Given the description of an element on the screen output the (x, y) to click on. 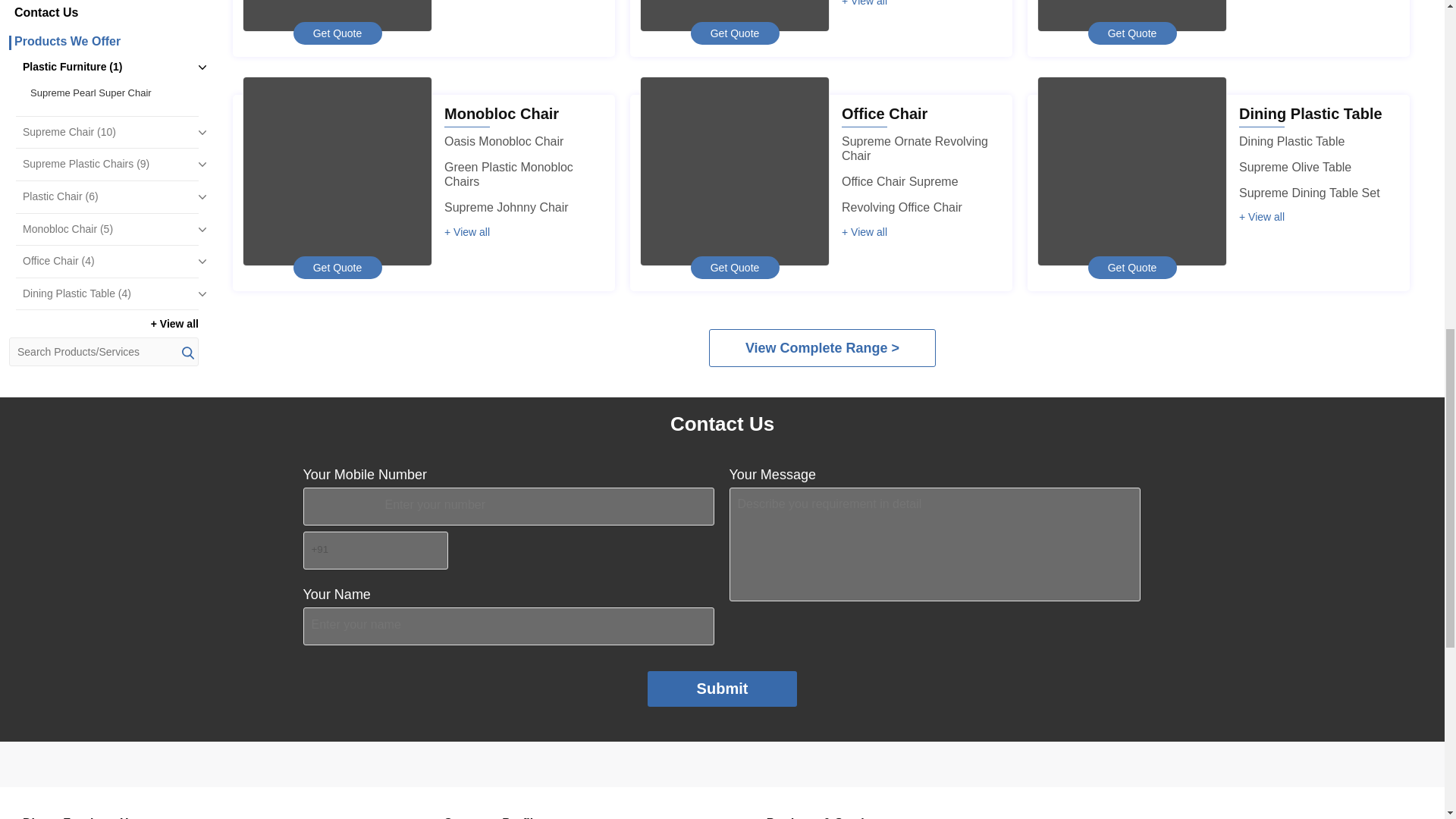
Submit (722, 688)
